Given the description of an element on the screen output the (x, y) to click on. 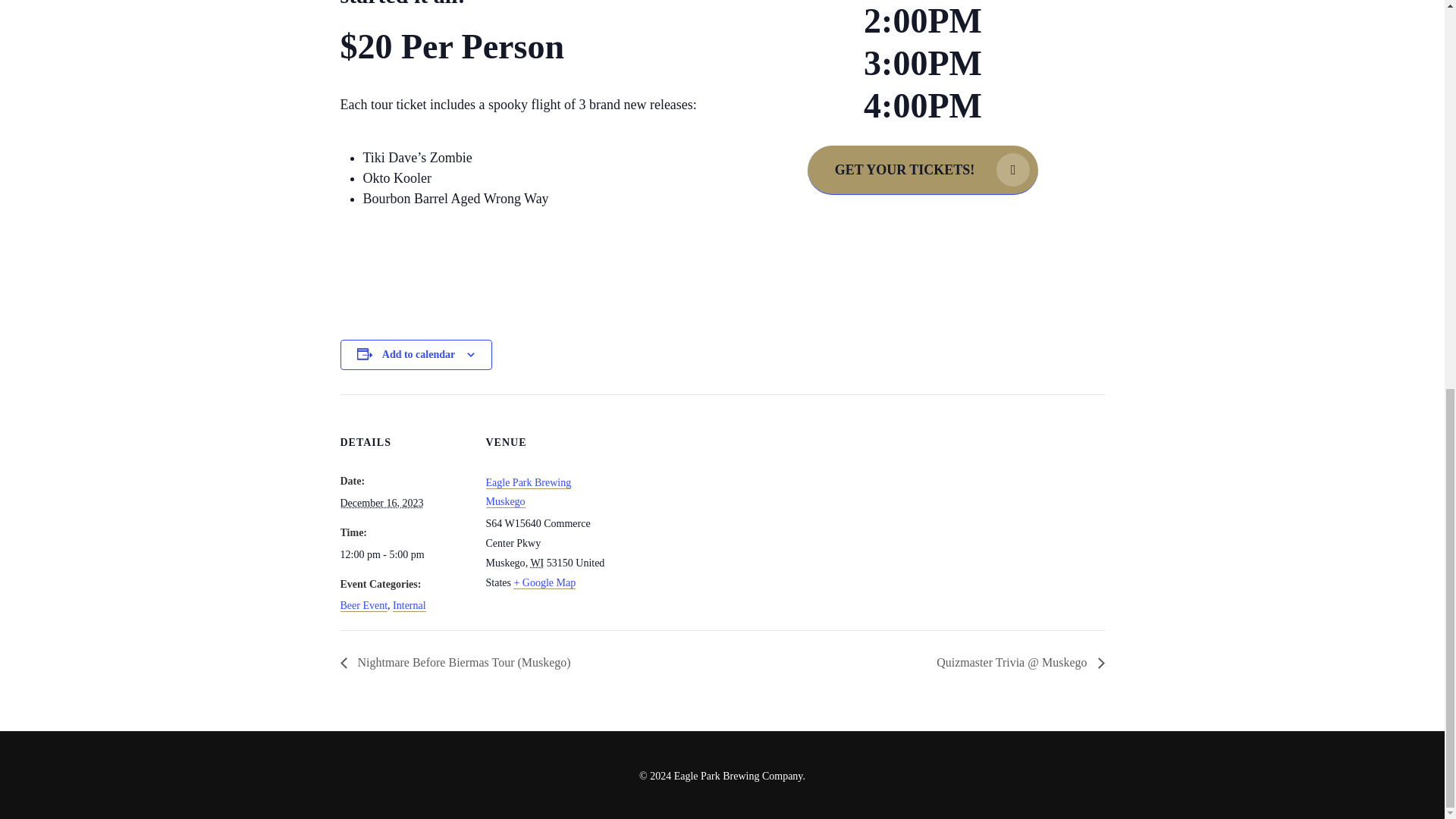
Beer Event (363, 605)
2023-12-16 (403, 554)
GET YOUR TICKETS! (923, 169)
2023-12-16 (381, 502)
Eagle Park Brewing Muskego (527, 491)
Internal (409, 605)
Click to view a Google Map (544, 582)
Add to calendar (417, 354)
Wisconsin (536, 562)
